Given the description of an element on the screen output the (x, y) to click on. 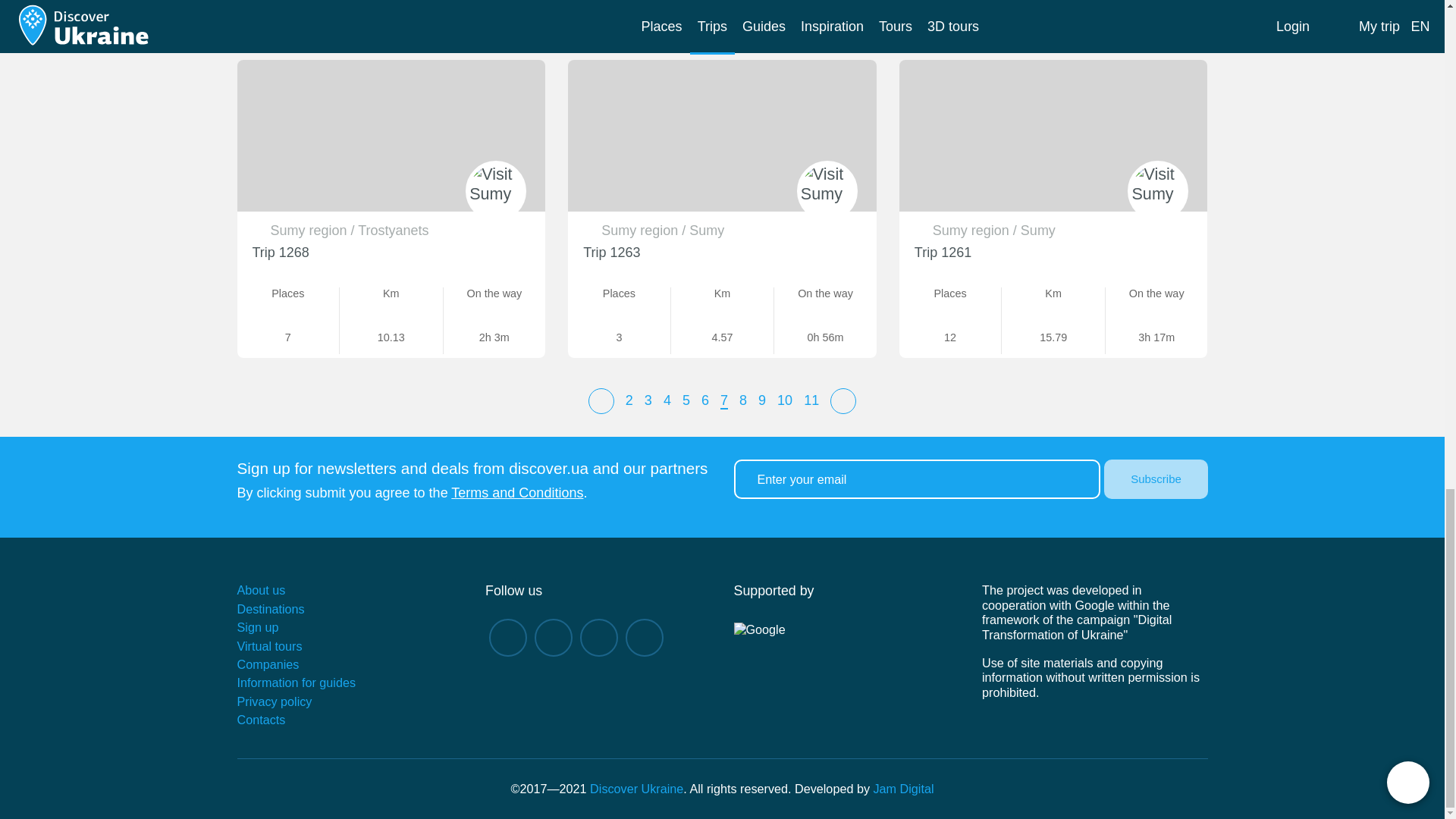
Trip 1263 (611, 252)
Trip 1268 (279, 252)
Trip 1261 (942, 252)
